Given the description of an element on the screen output the (x, y) to click on. 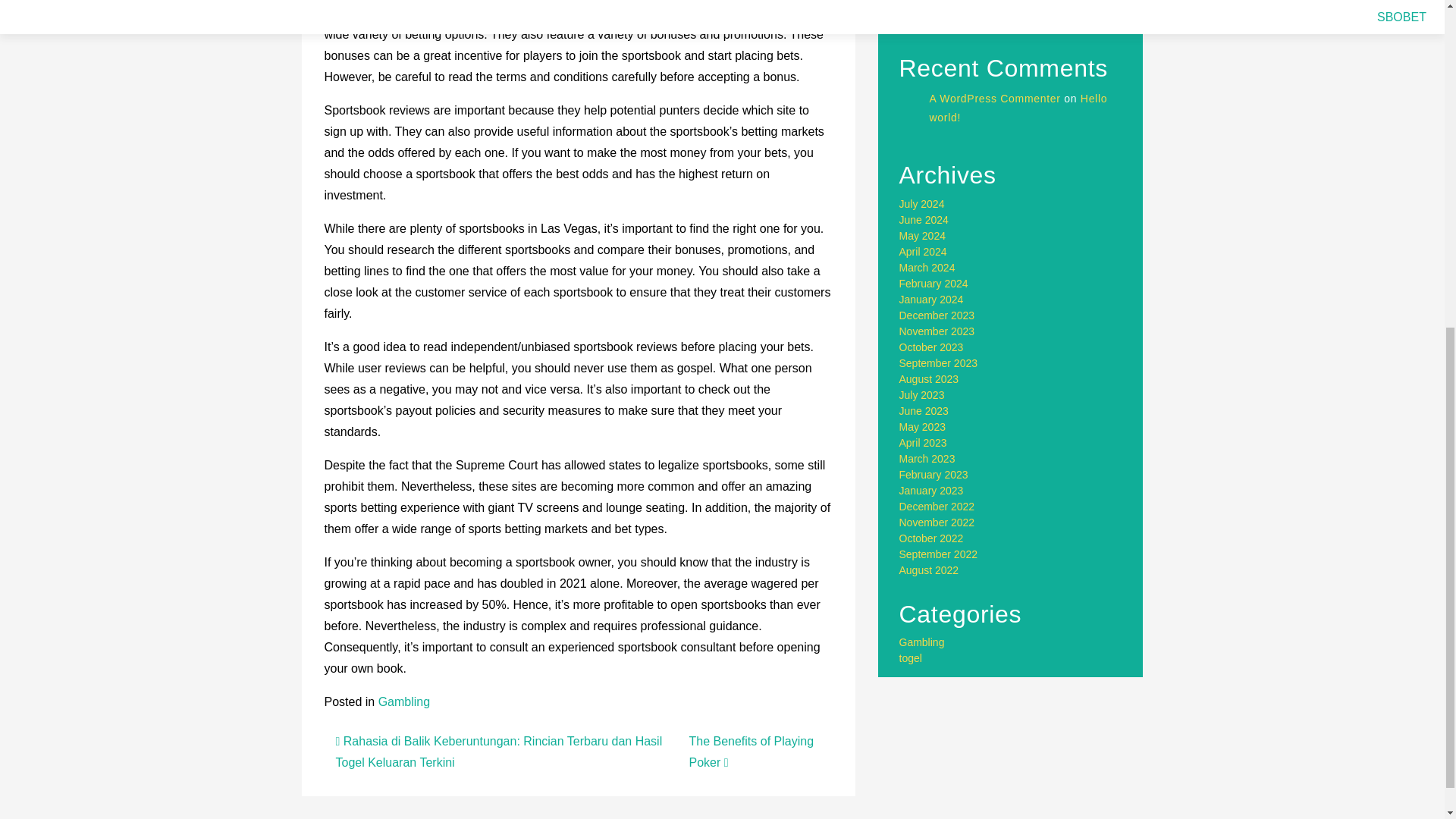
November 2022 (937, 506)
February 2024 (933, 267)
May 2024 (921, 219)
A WordPress Commenter (995, 66)
August 2024 (929, 172)
December 2022 (937, 490)
March 2024 (927, 251)
January 2023 (931, 474)
December 2023 (937, 299)
